Given the description of an element on the screen output the (x, y) to click on. 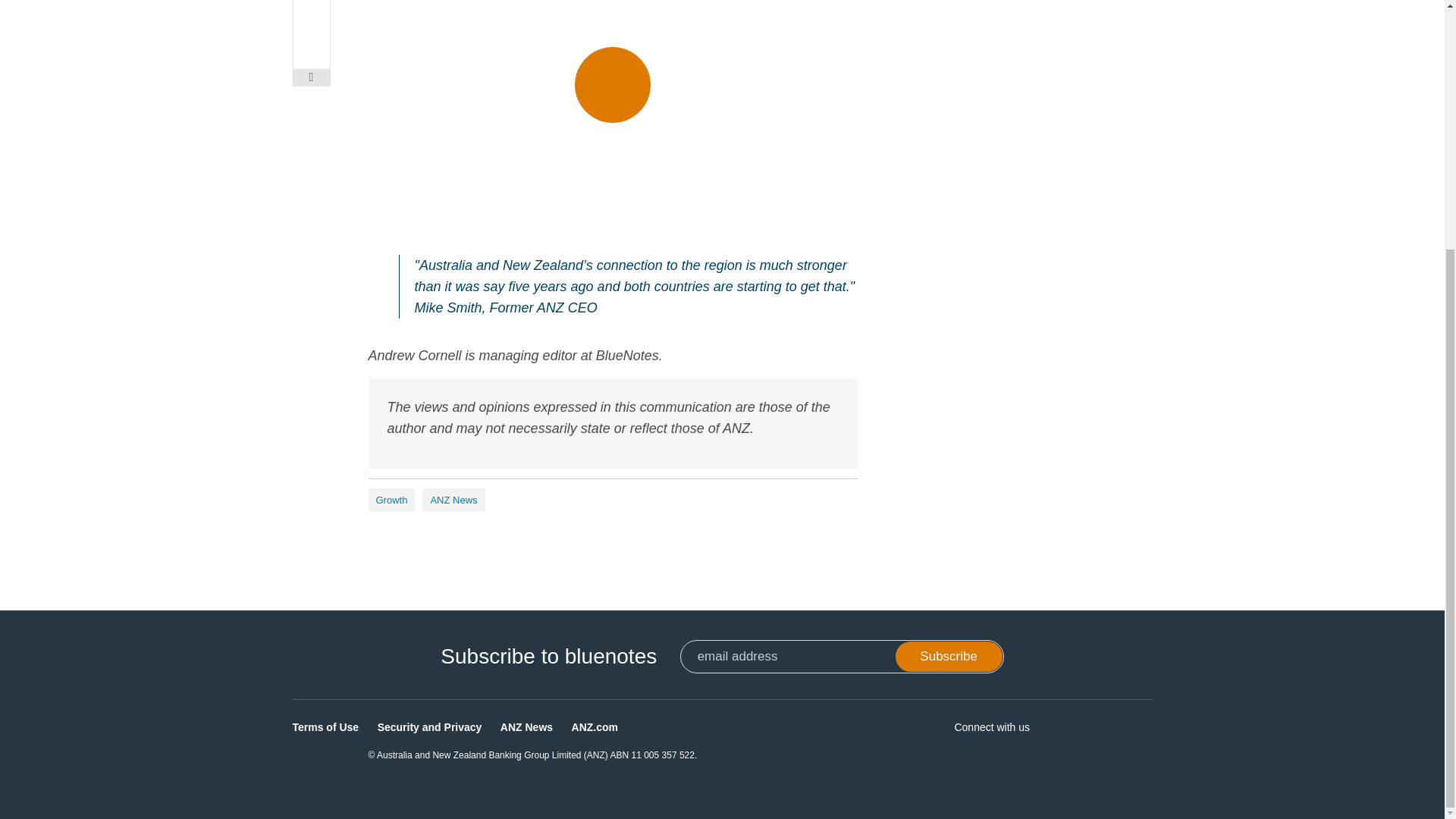
ANZ.com (594, 727)
Security and Privacy (429, 727)
ANZ News (453, 499)
Terms of Use (325, 727)
ANZ News (526, 727)
Growth (391, 499)
